Given the description of an element on the screen output the (x, y) to click on. 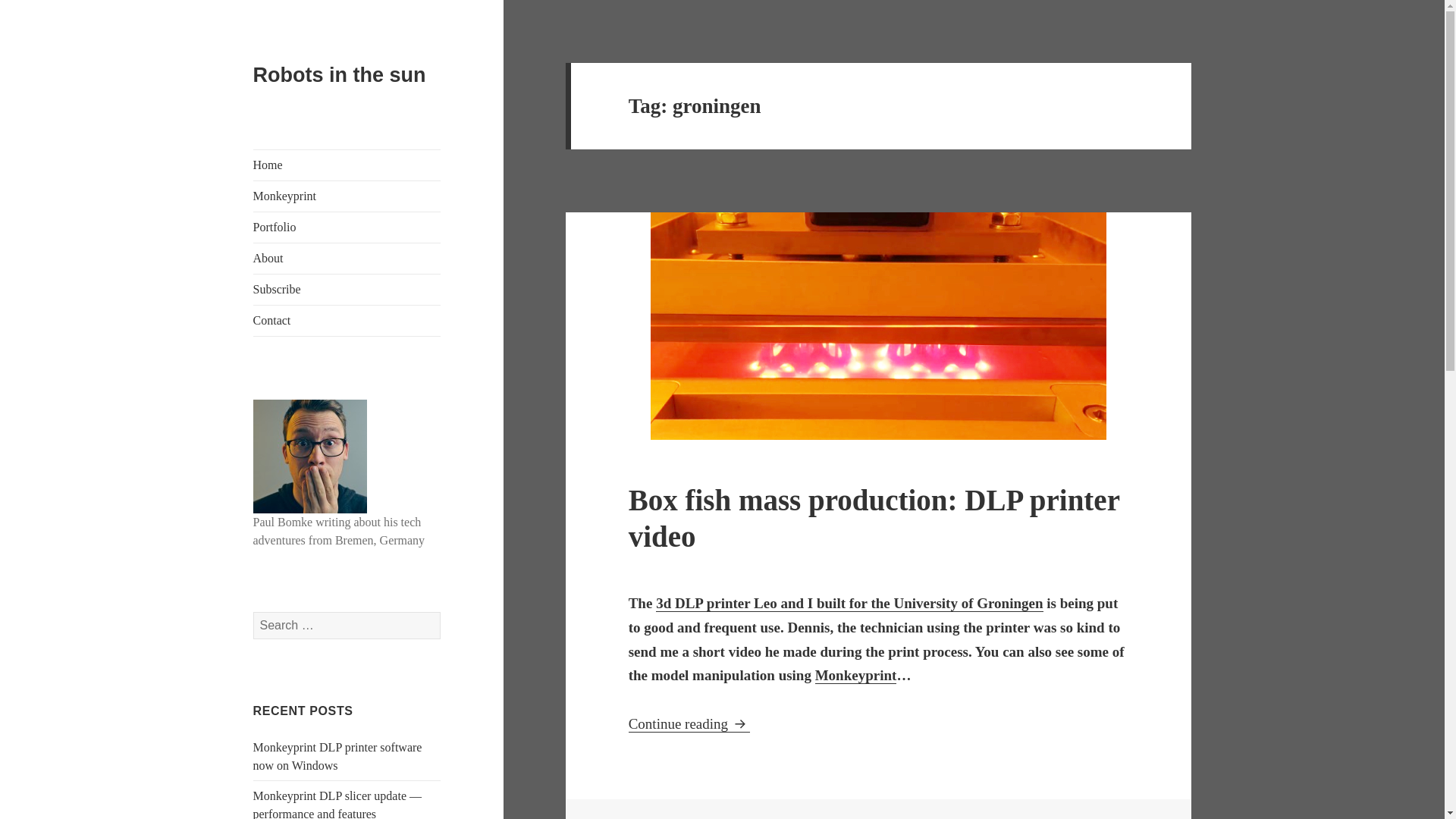
Robots in the sun (339, 74)
Monkeyprint (855, 675)
Box fish mass production: DLP printer video (873, 518)
Contact (347, 320)
Search (688, 723)
Home (347, 195)
Search (347, 164)
Portfolio (337, 756)
Subscribe (347, 227)
About (347, 289)
